Given the description of an element on the screen output the (x, y) to click on. 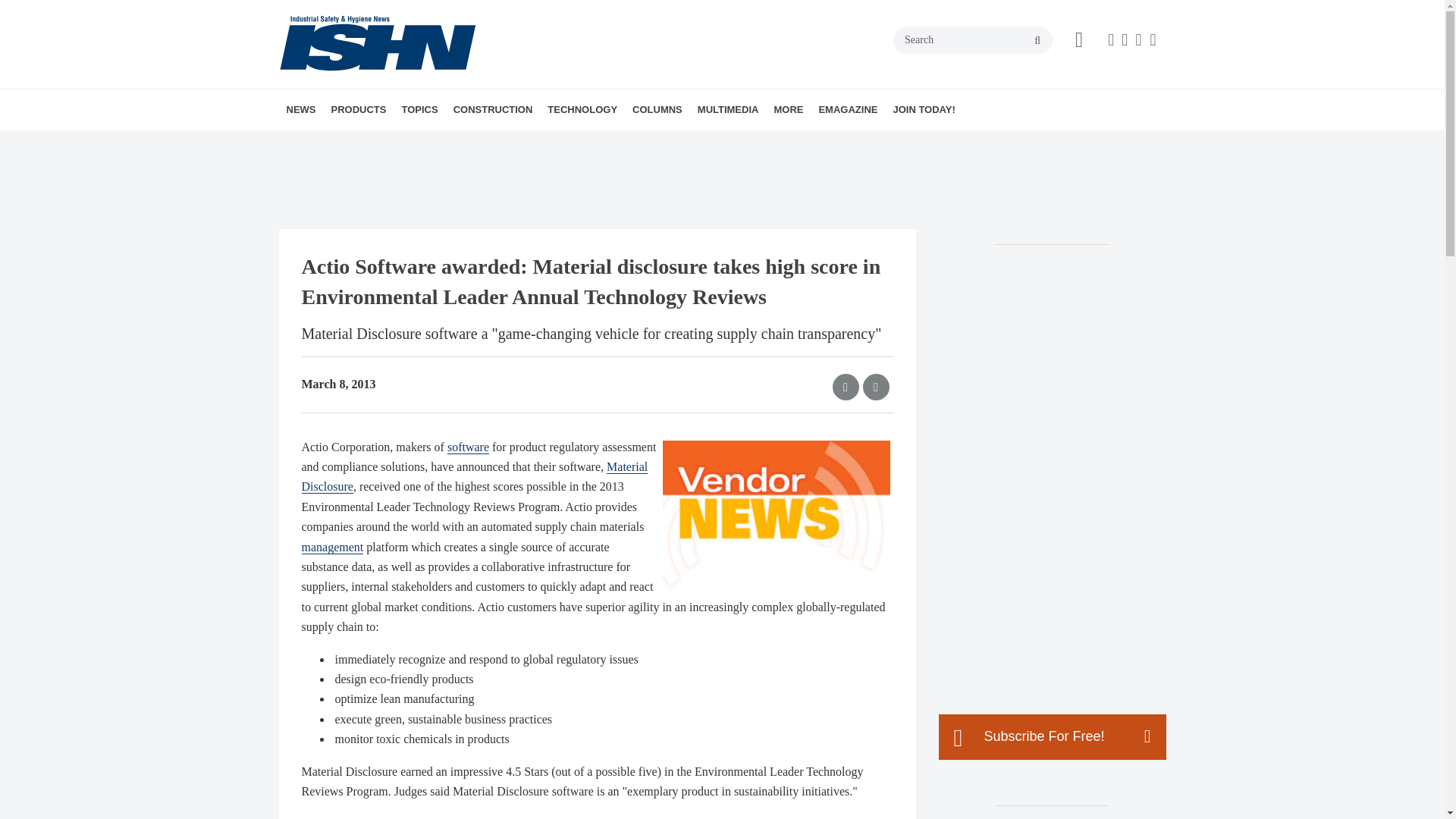
GOVERNMENT REGULATIONS (504, 142)
EDITORIAL COMMENTS (736, 142)
VIDEOS (801, 142)
PRODUCT INNOVATIONS (417, 142)
Search (972, 40)
TODAY'S NEWS (373, 142)
FACILITY SAFETY (500, 142)
BEST PRACTICES (718, 142)
LEADING SAFETY (740, 142)
ISHN PODCAST (784, 142)
